Given the description of an element on the screen output the (x, y) to click on. 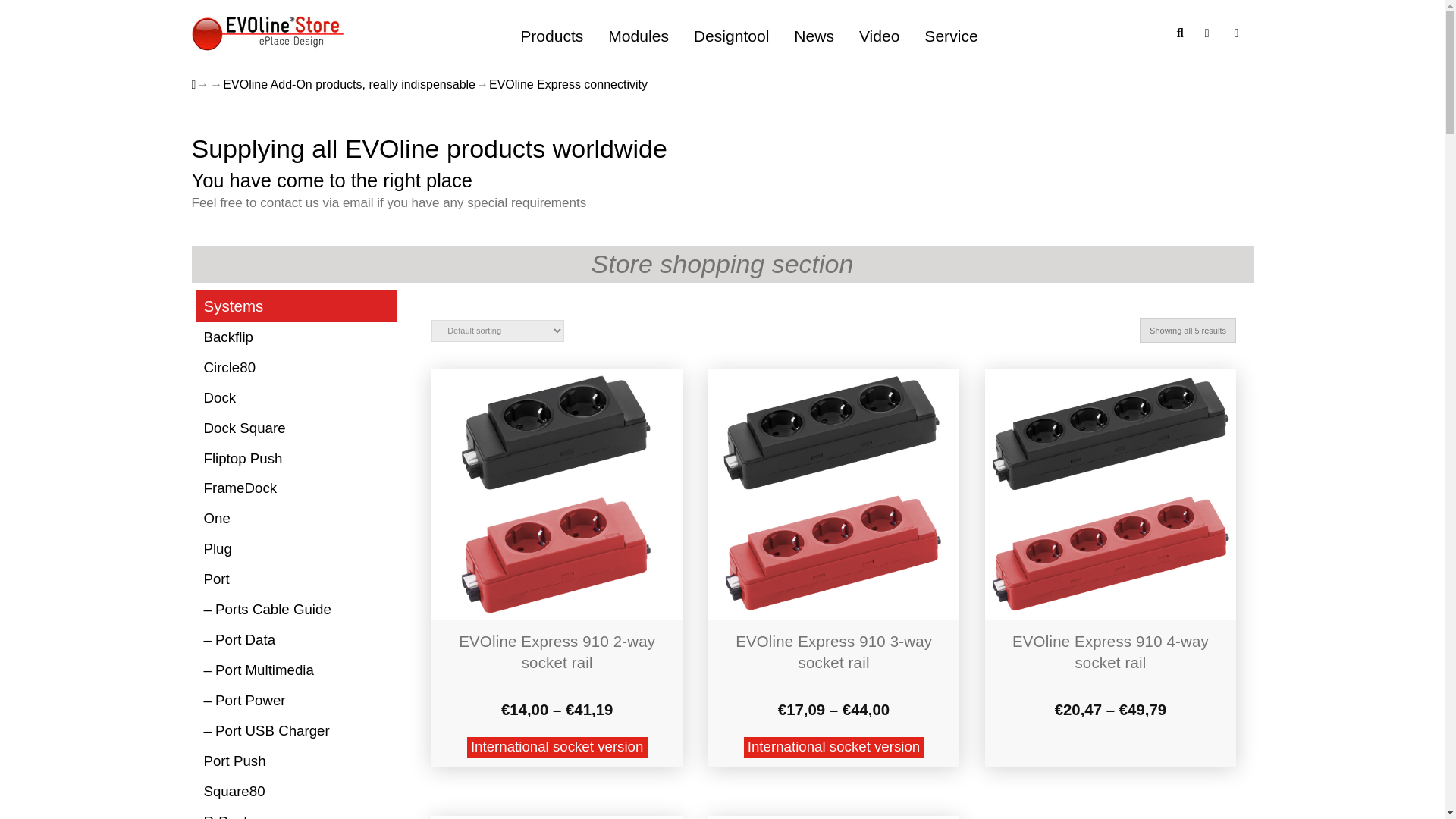
Service (951, 35)
Modules (638, 35)
EVOline Express connectivity (568, 84)
EVOline Add-On products, really indispensable (349, 84)
R-Dock (296, 812)
Plug (296, 549)
Port Push (296, 761)
Products (551, 35)
Dock Square (296, 428)
You Are Here (568, 84)
News (814, 35)
Port (296, 580)
Fliptop Push (296, 458)
Designtool (731, 35)
Dock (296, 398)
